Given the description of an element on the screen output the (x, y) to click on. 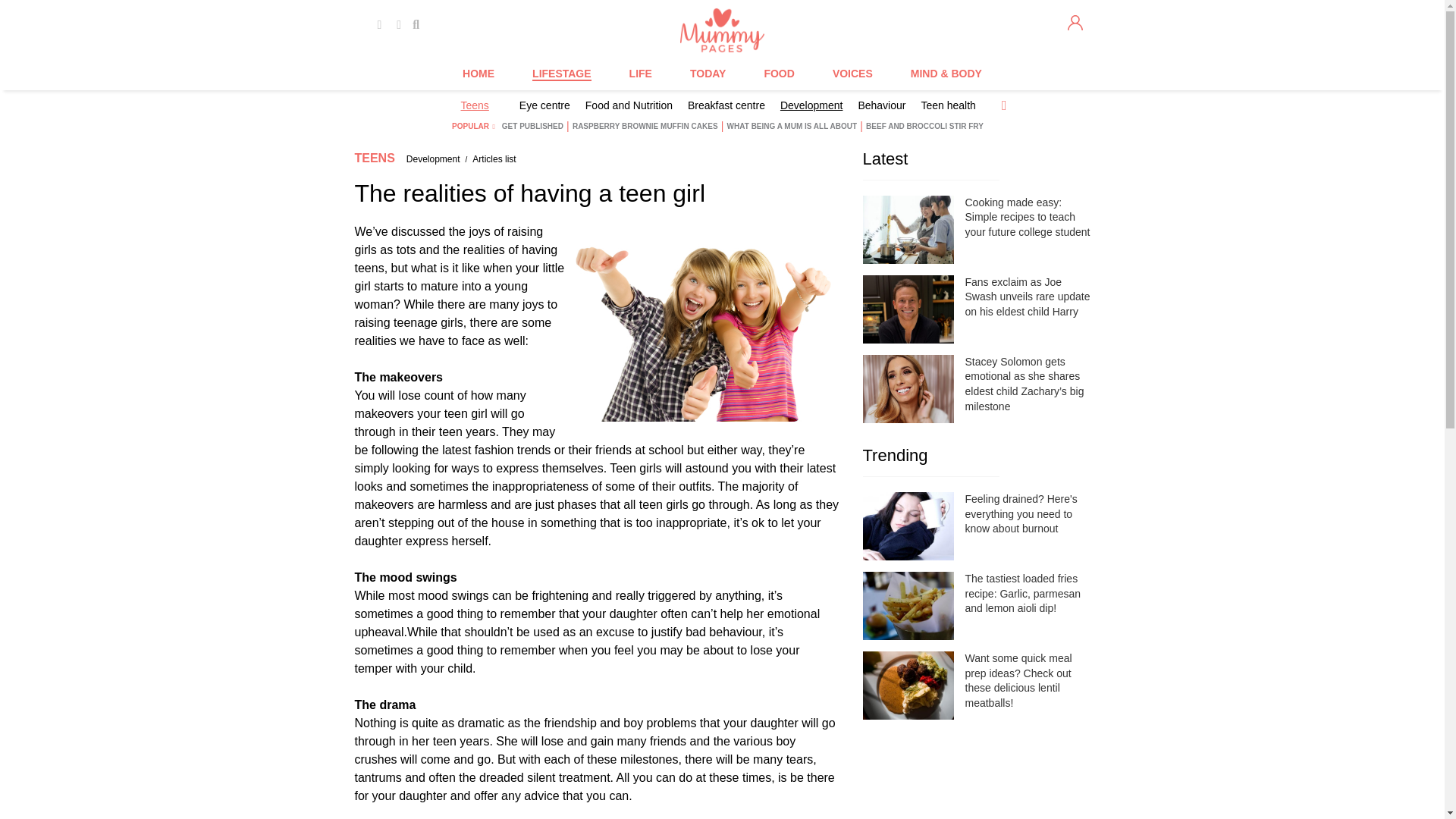
LIFESTAGE (561, 73)
LIFE (640, 73)
TODAY (707, 73)
FOOD (778, 73)
HOME (478, 73)
